Given the description of an element on the screen output the (x, y) to click on. 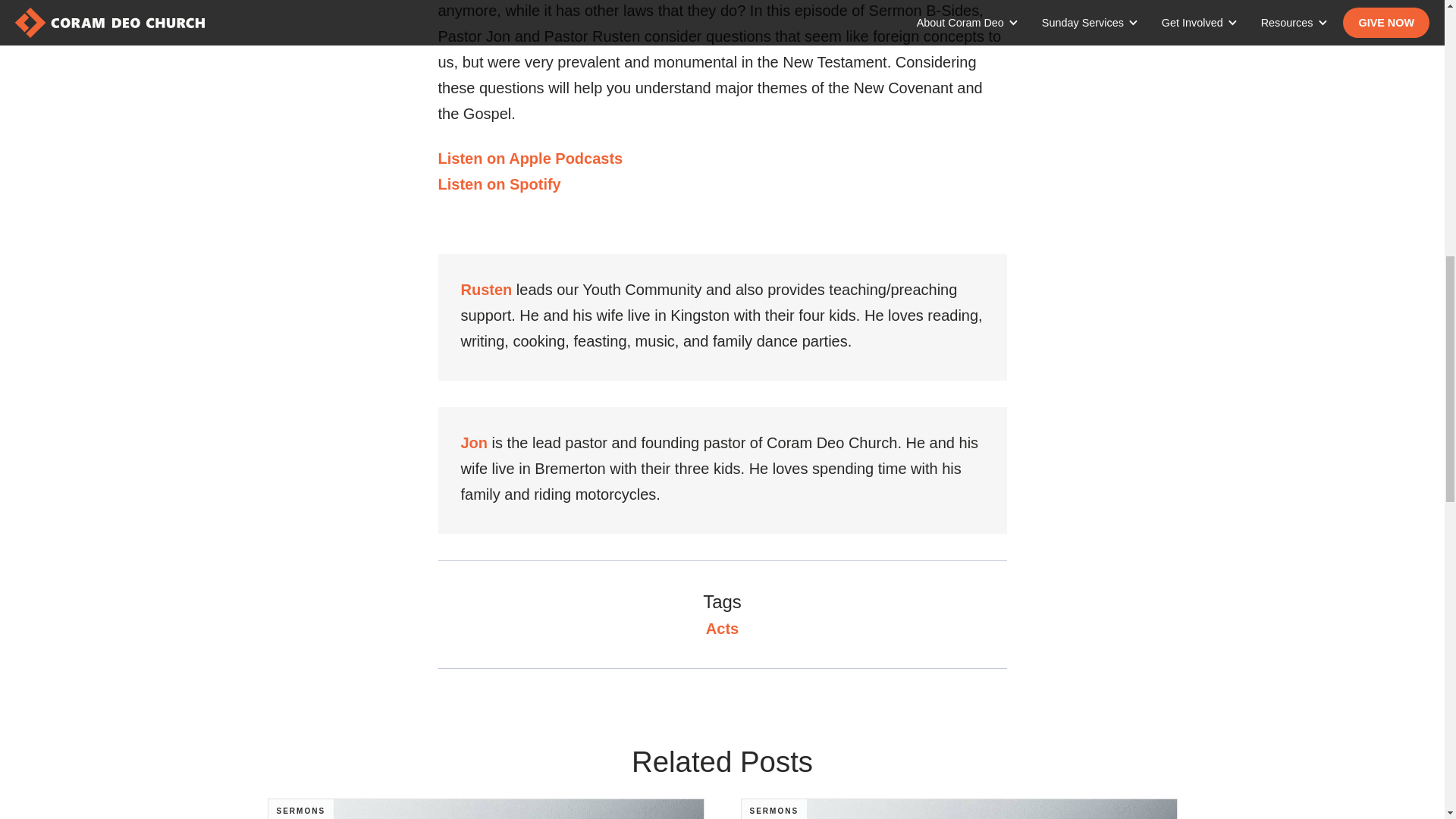
Listen on Apple Podcasts (530, 158)
Listen on Spotify (530, 197)
